Given the description of an element on the screen output the (x, y) to click on. 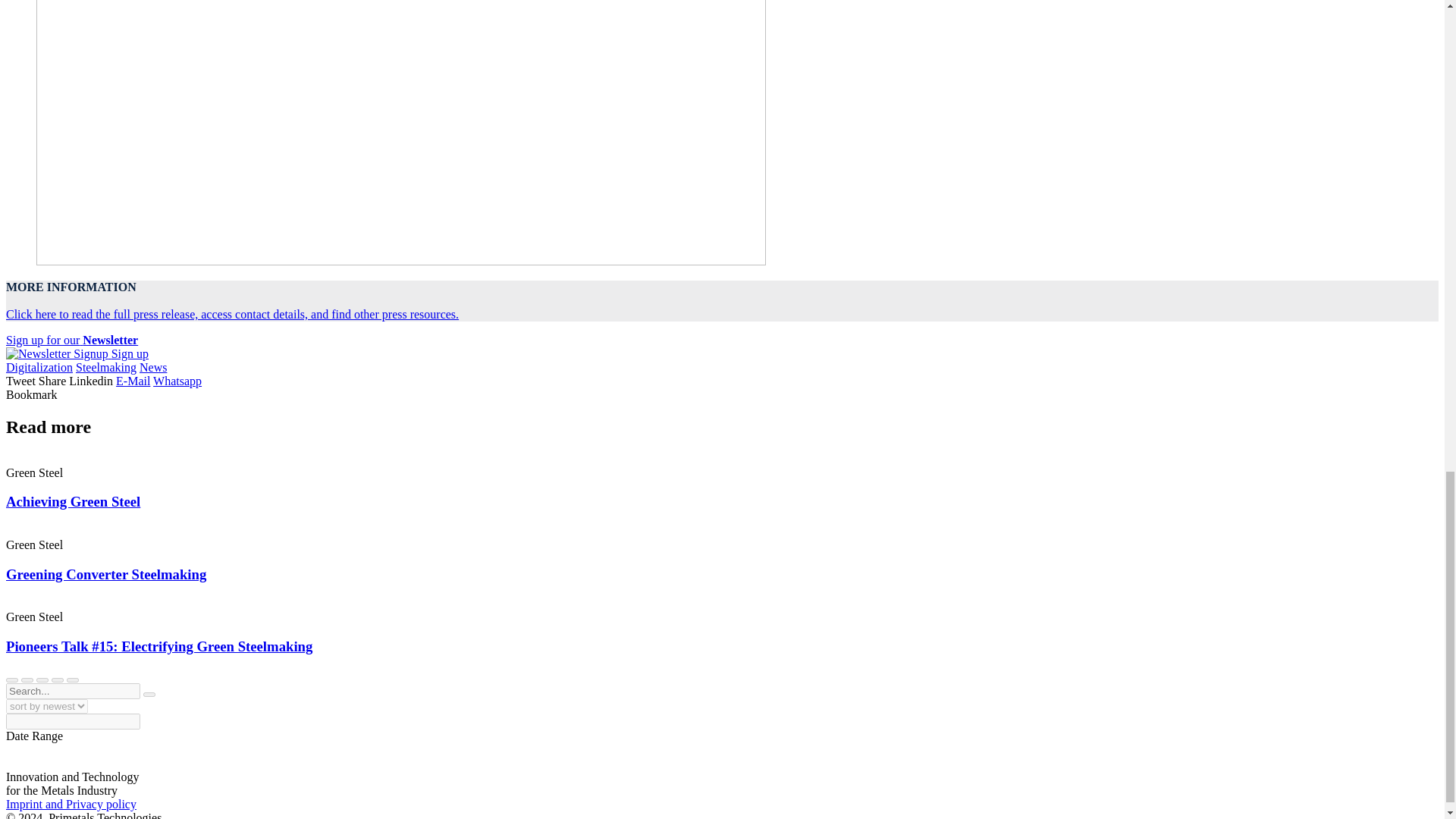
Sort by (46, 706)
Toggle fullscreen (27, 680)
